Given the description of an element on the screen output the (x, y) to click on. 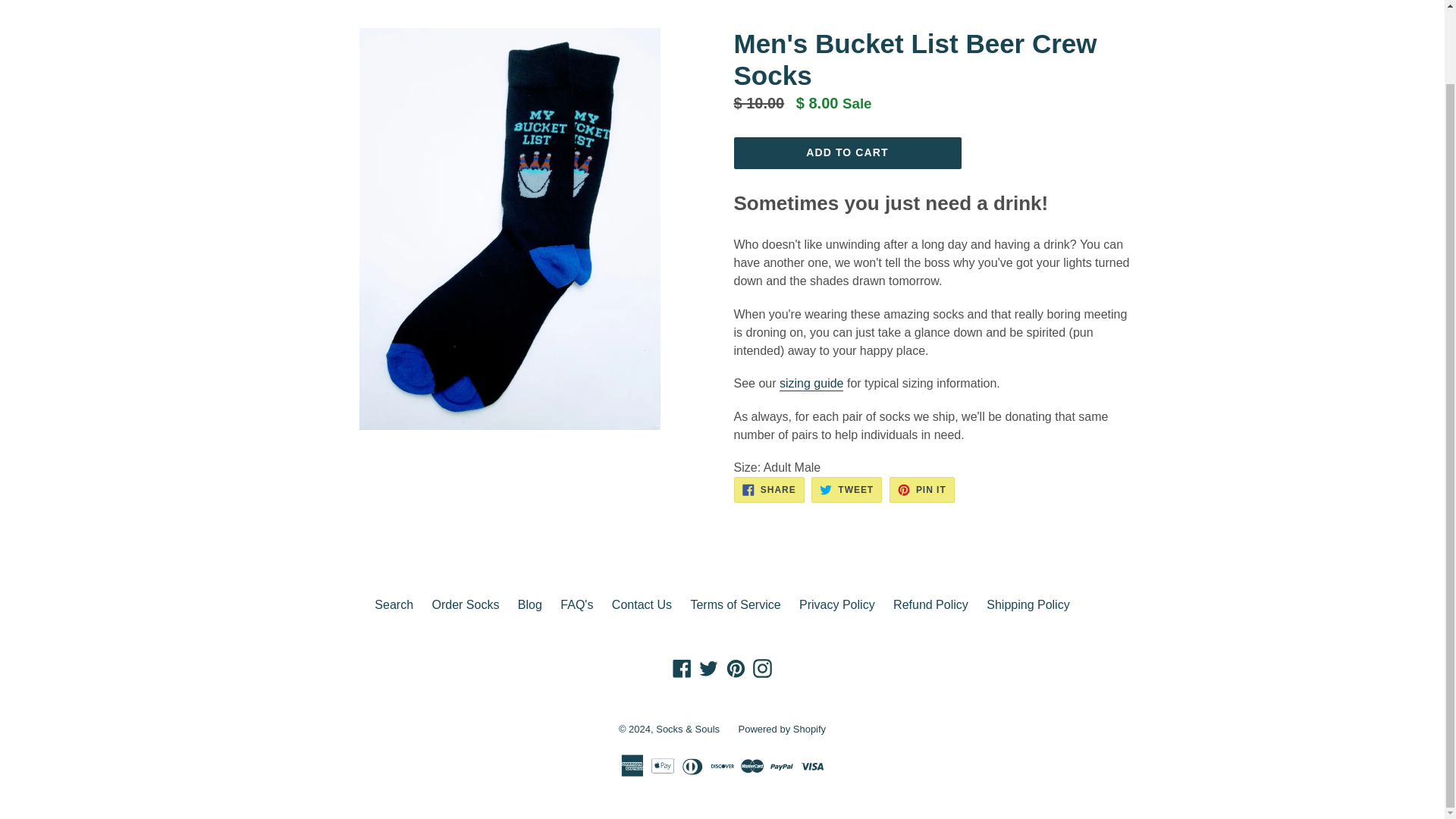
Share on Facebook (769, 489)
Pin on Pinterest (922, 489)
Tweet on Twitter (846, 489)
Socks and Souls Sizing Guide (811, 383)
